Given the description of an element on the screen output the (x, y) to click on. 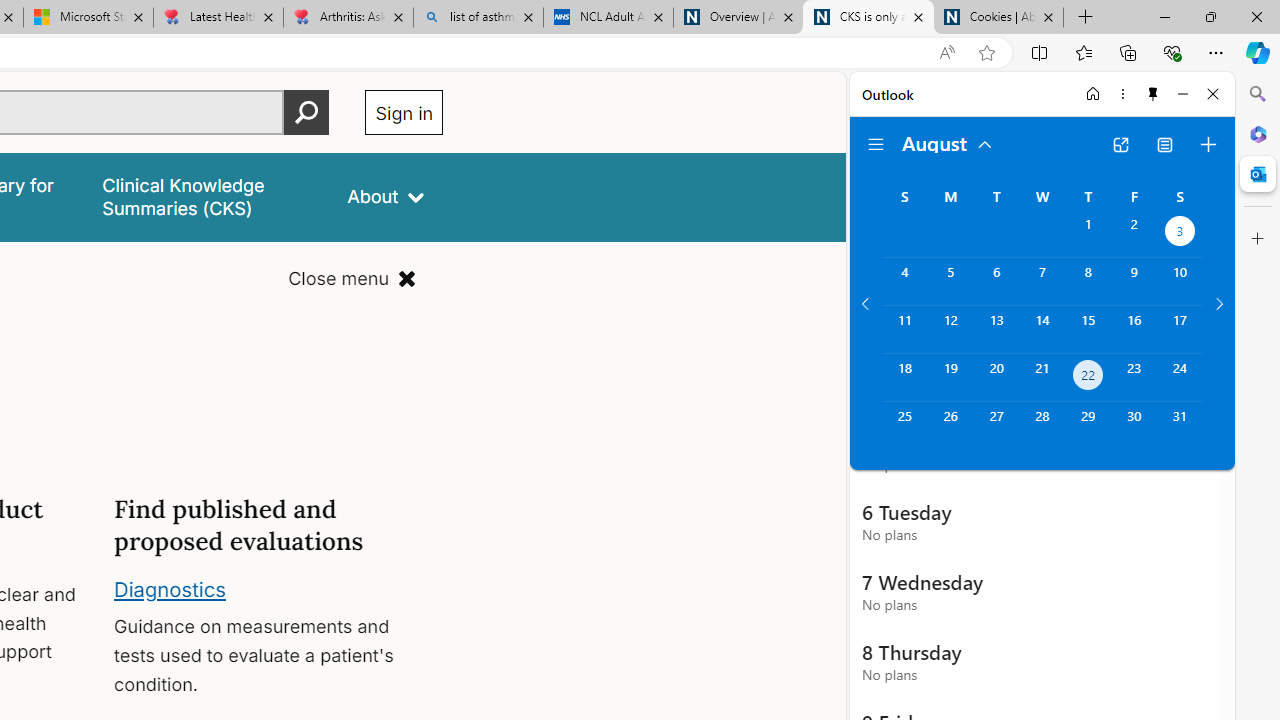
Friday, August 9, 2024.  (1134, 281)
Monday, August 26, 2024.  (950, 425)
Tuesday, August 27, 2024.  (996, 425)
Unpin side pane (1153, 93)
Thursday, August 22, 2024. Today.  (1088, 377)
Sunday, August 18, 2024.  (904, 377)
Friday, August 30, 2024.  (1134, 425)
Sunday, August 25, 2024.  (904, 425)
false (207, 196)
